Given the description of an element on the screen output the (x, y) to click on. 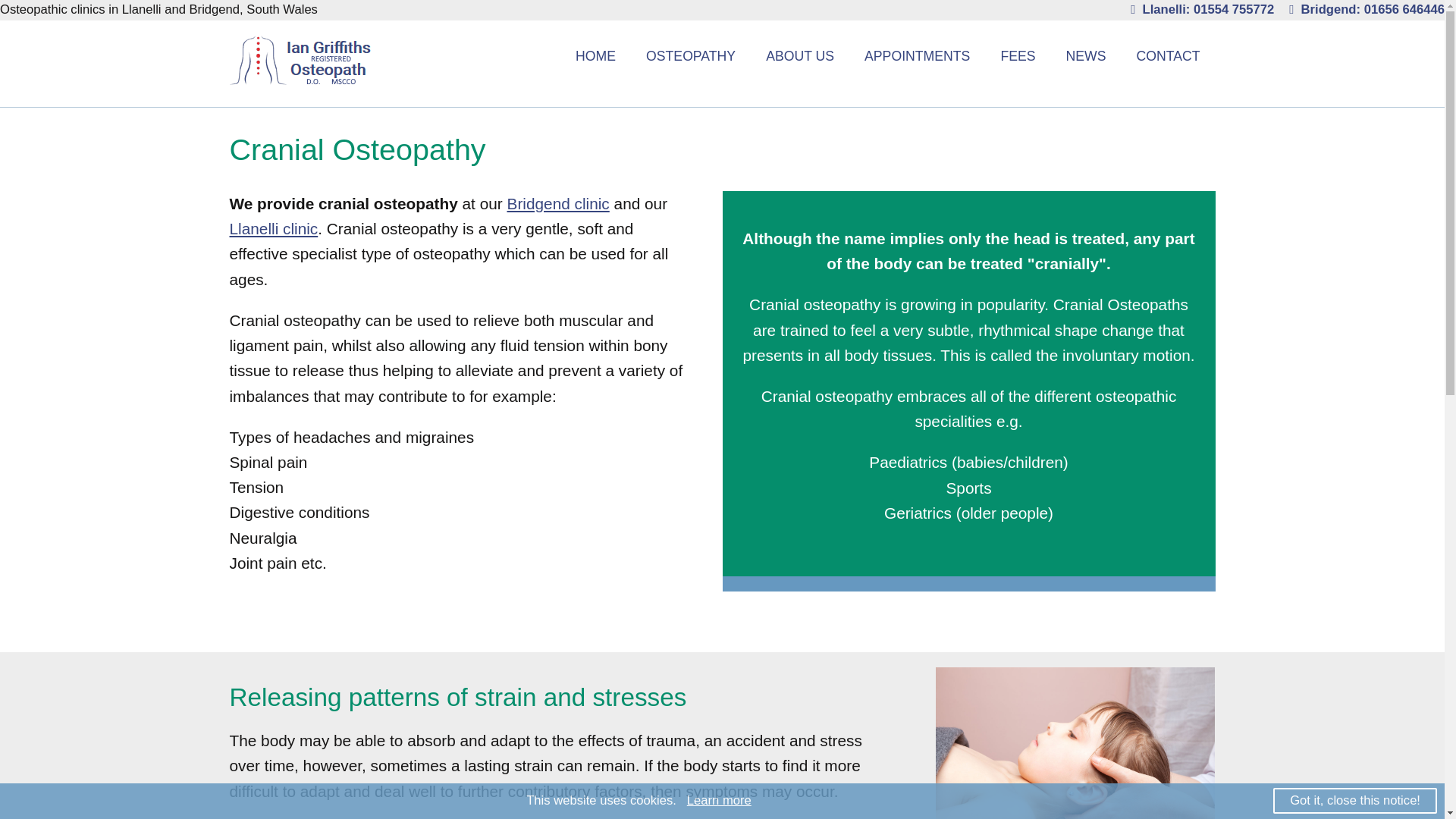
CONTACT (1167, 56)
Ian Griffiths Osteopath in Bridgend and Llanelli (298, 78)
NEWS (1086, 56)
ABOUT US (799, 56)
Llanelli clinic (272, 228)
OSTEOPATHY (690, 56)
Bridgend clinic (558, 203)
HOME (595, 56)
APPOINTMENTS (916, 56)
FEES (1017, 56)
